Given the description of an element on the screen output the (x, y) to click on. 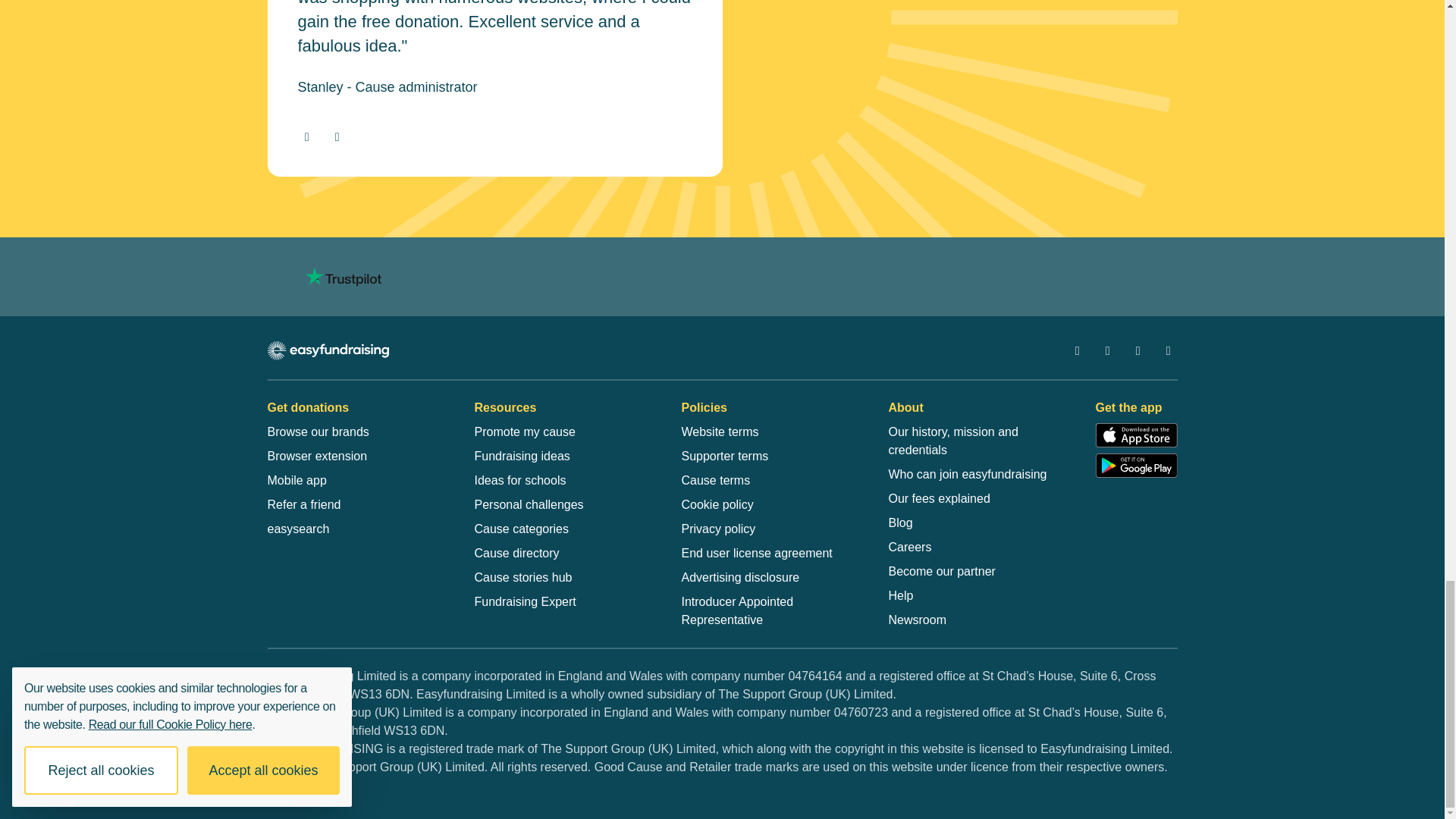
Mobile app (296, 480)
Fundraising ideas (522, 456)
Cookie policy (716, 505)
Cause terms (715, 480)
Privacy policy (718, 529)
Promote my cause (524, 432)
Cause stories hub (523, 577)
Supporter terms (724, 456)
easysearch (297, 529)
Cause categories (521, 529)
Browse our brands (317, 432)
Ideas for schools (520, 480)
Website terms (719, 432)
Personal challenges (528, 505)
Refer a friend (303, 505)
